Given the description of an element on the screen output the (x, y) to click on. 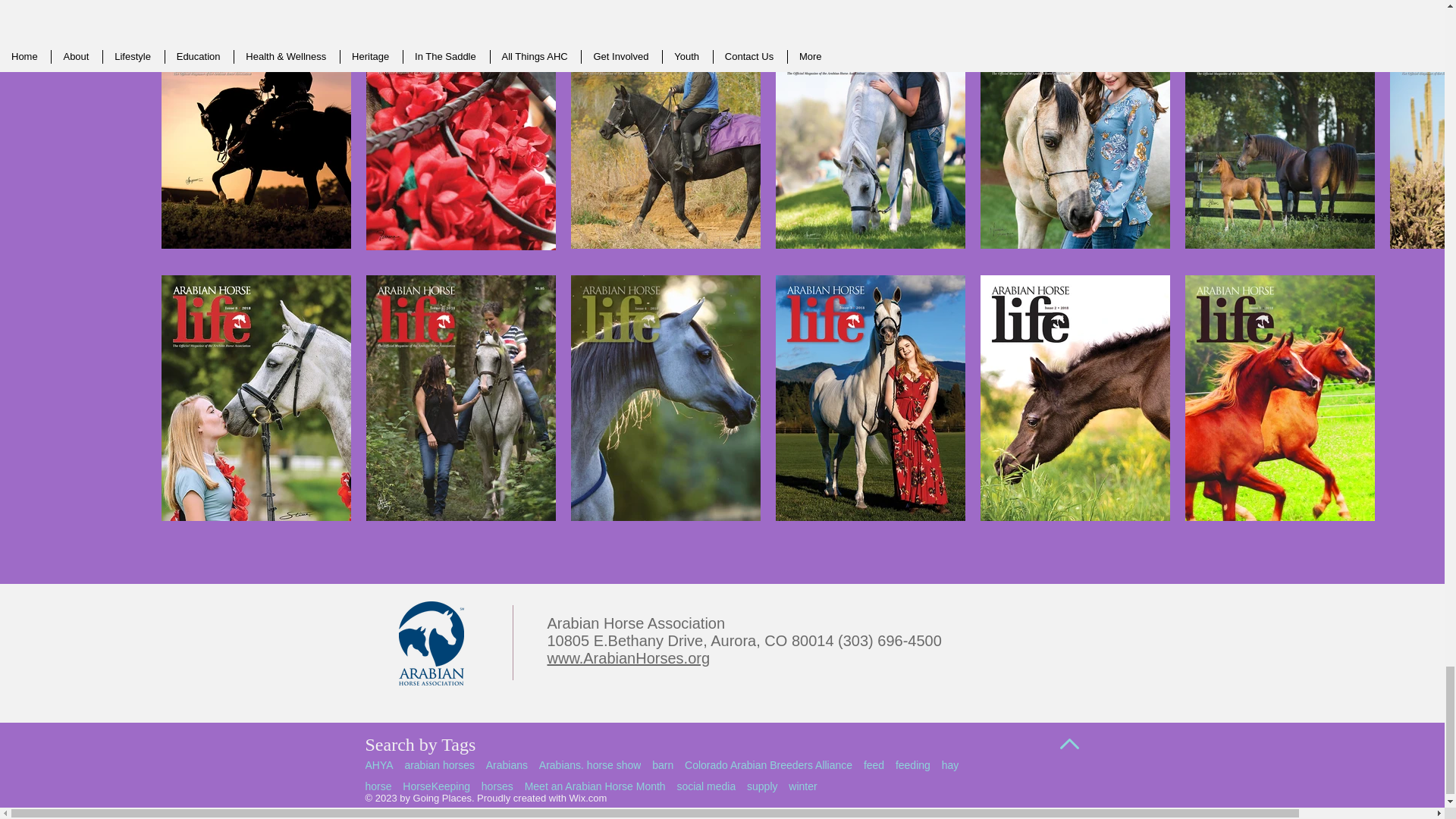
feeding (912, 765)
social media (706, 786)
AHYA (379, 765)
supply (761, 786)
Arabians. horse show (590, 765)
feed (873, 765)
barn (662, 765)
Colorado Arabian Breeders Alliance (767, 765)
arabian horses (439, 765)
HorseKeeping (436, 786)
Arabians (506, 765)
horses (497, 786)
winter (802, 786)
Meet an Arabian Horse Month (594, 786)
horse (378, 786)
